Given the description of an element on the screen output the (x, y) to click on. 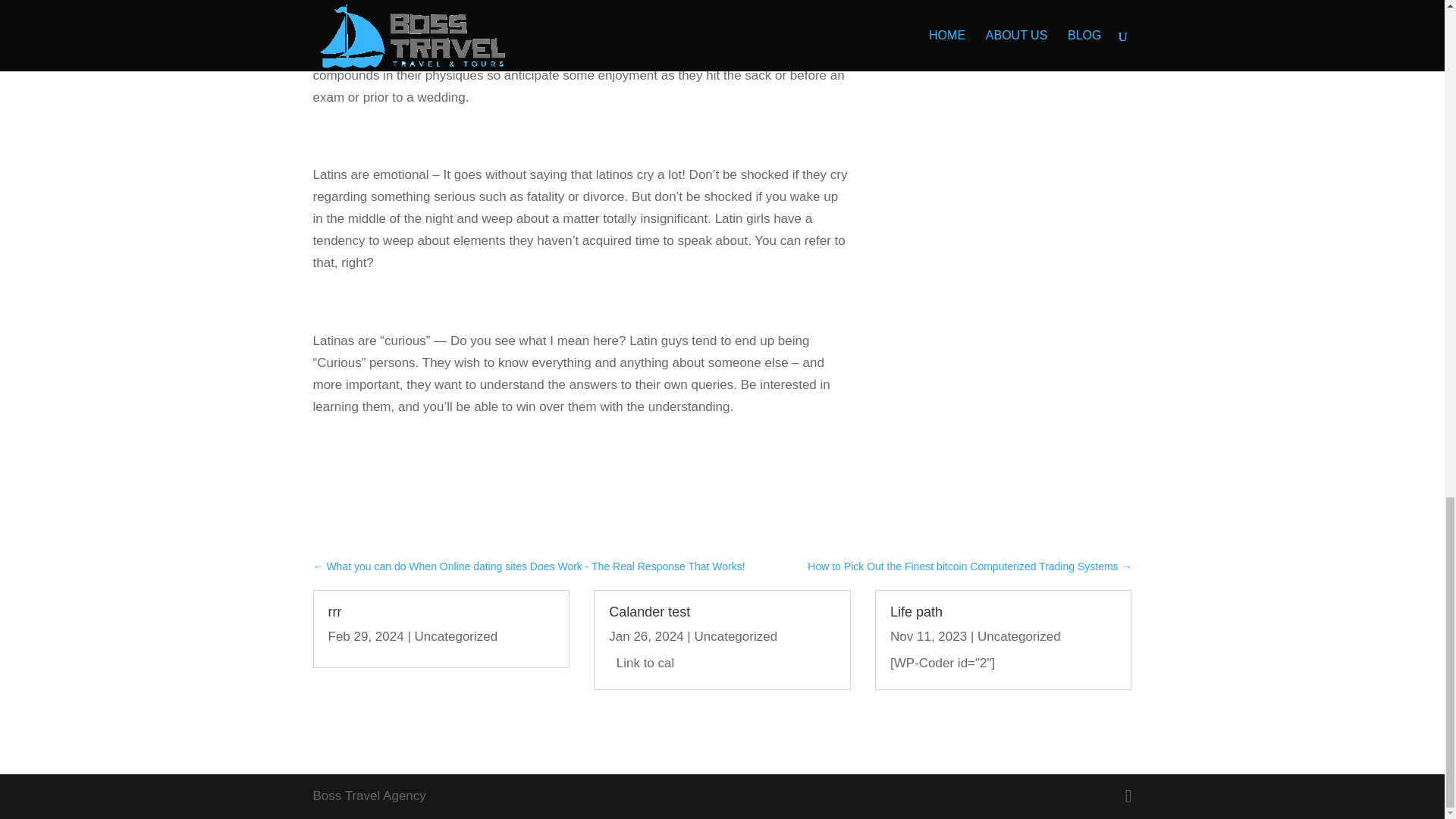
Uncategorized (735, 636)
Life path (915, 611)
rrr (333, 611)
Uncategorized (455, 636)
Calander test (649, 611)
Uncategorized (1018, 636)
